Given the description of an element on the screen output the (x, y) to click on. 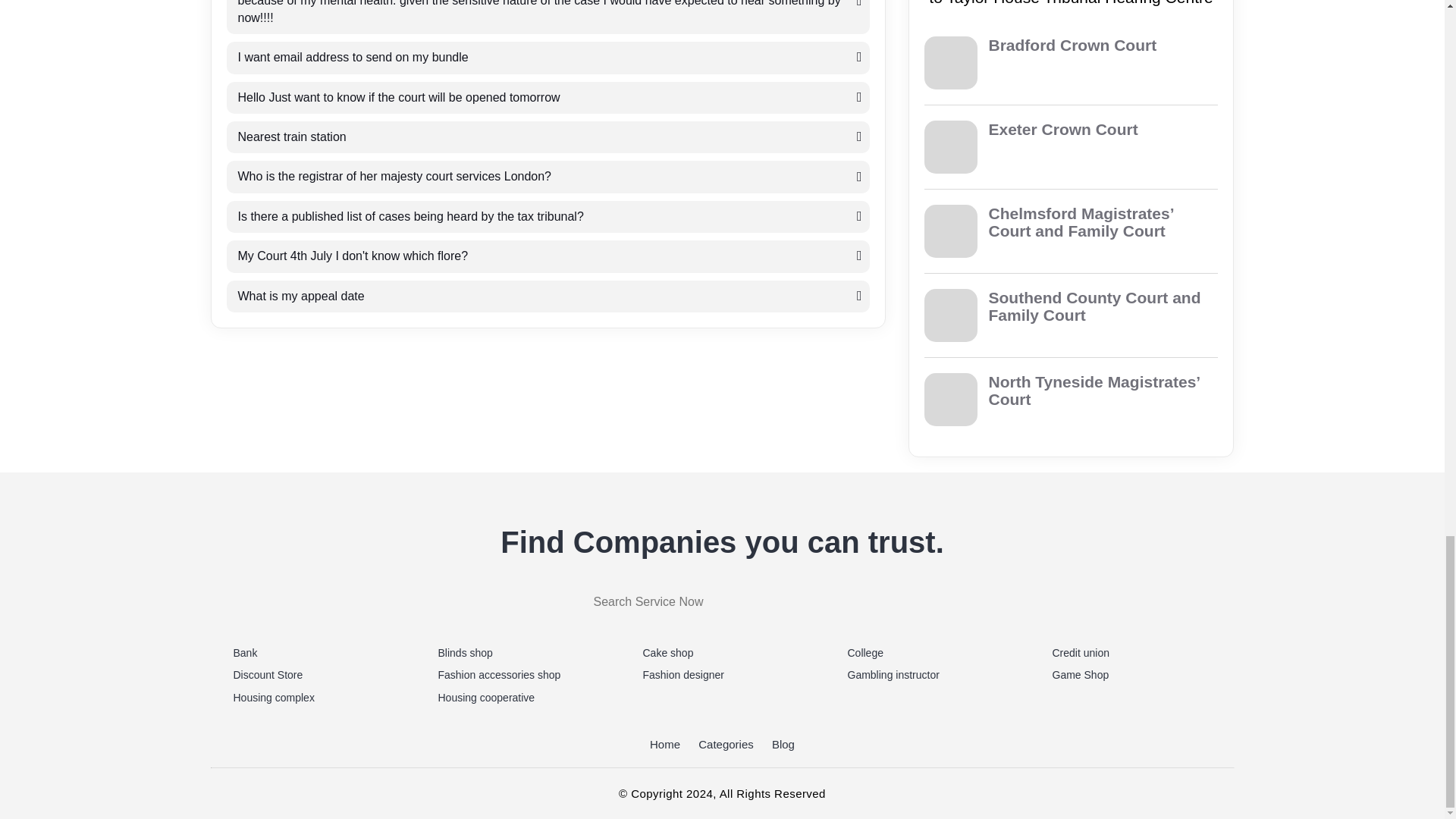
Blinds shop (517, 653)
Credit union (1131, 653)
Fashion accessories shop (517, 675)
Cake shop (722, 653)
College (927, 653)
Bank (312, 653)
Fashion designer (722, 675)
Discount Store (312, 675)
